Given the description of an element on the screen output the (x, y) to click on. 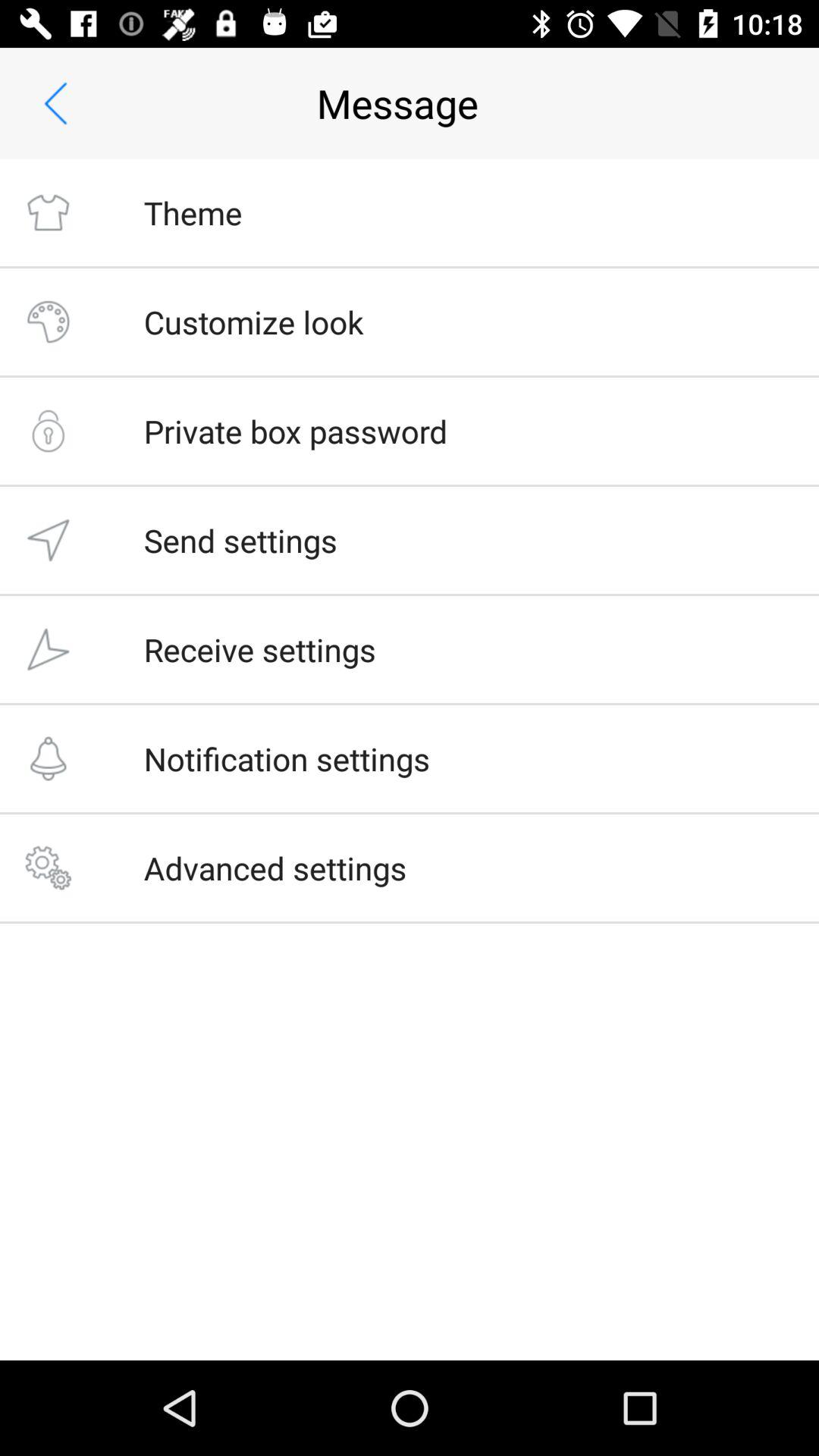
choose receive settings item (259, 649)
